Given the description of an element on the screen output the (x, y) to click on. 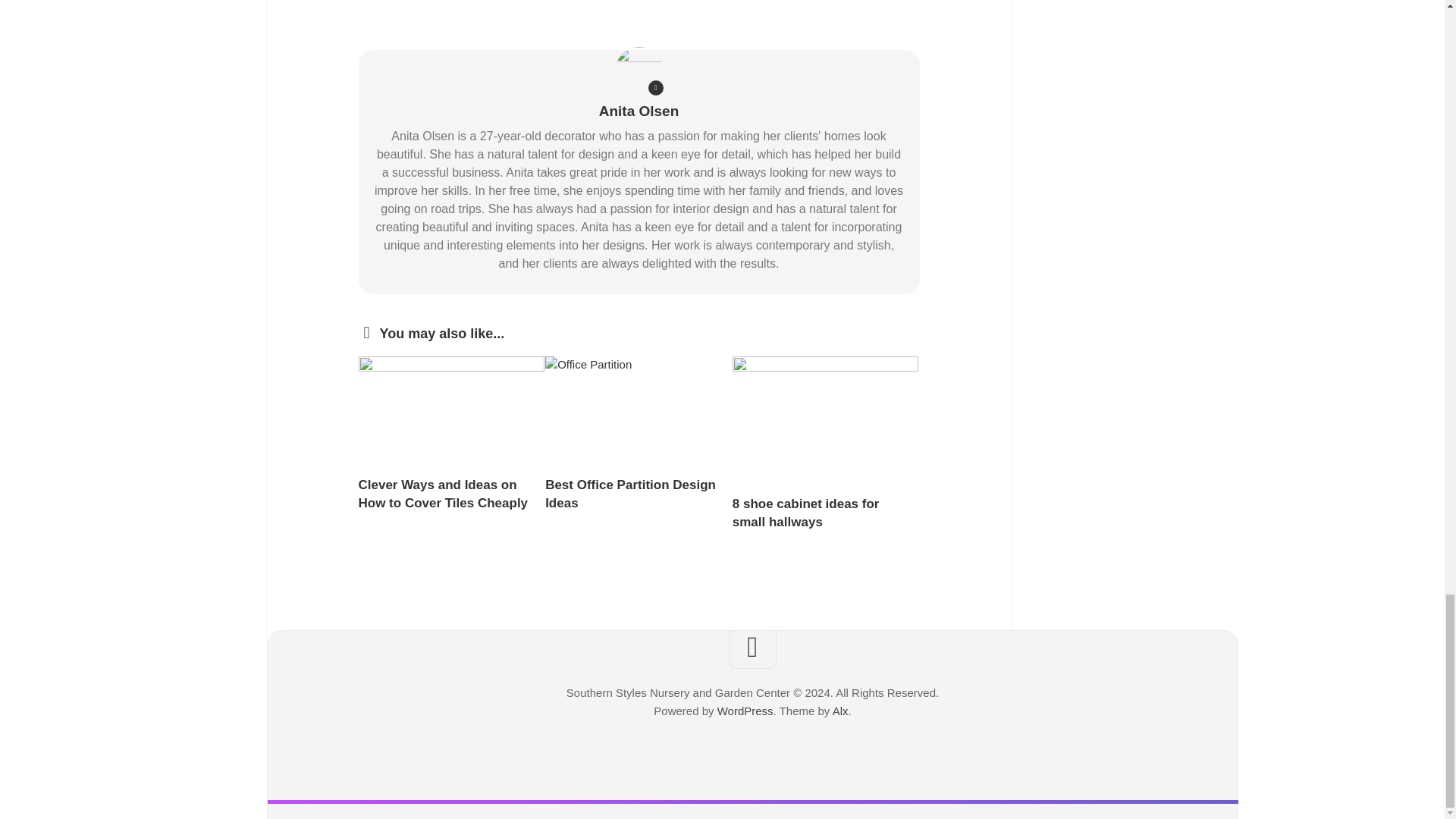
8 shoe cabinet ideas for small hallways (805, 512)
Best Office Partition Design Ideas (630, 493)
WordPress (745, 710)
Alx (840, 710)
Clever Ways and Ideas on How to Cover Tiles Cheaply (442, 493)
